Given the description of an element on the screen output the (x, y) to click on. 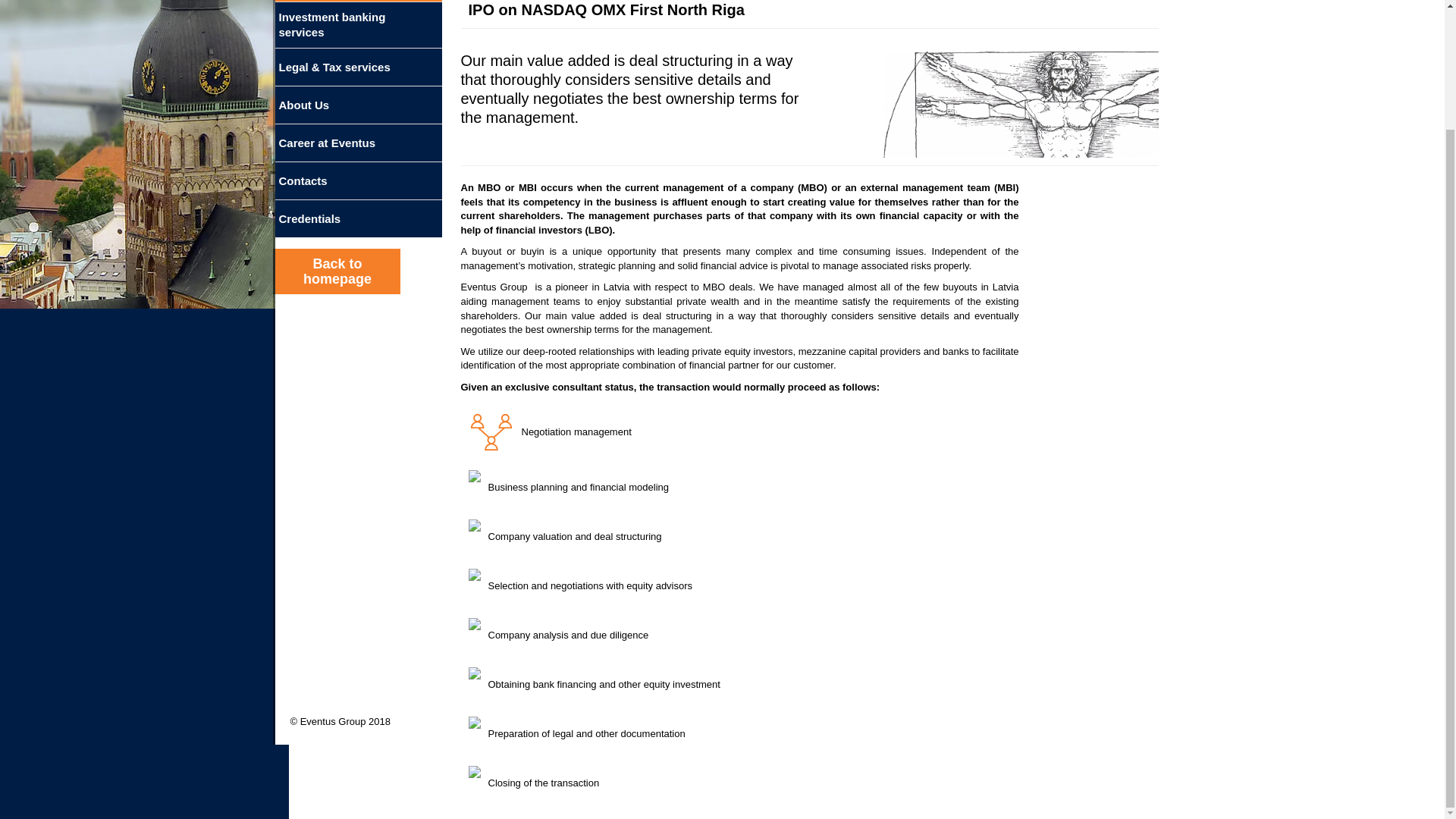
Back to homepage (336, 271)
About Us (358, 104)
IPO on NASDAQ OMX First North Riga (606, 9)
Linkedin (301, 702)
Google (333, 702)
Investment banking services (358, 24)
Email (365, 702)
Contacts (358, 180)
Credentials (358, 218)
Career at Eventus (358, 142)
